Given the description of an element on the screen output the (x, y) to click on. 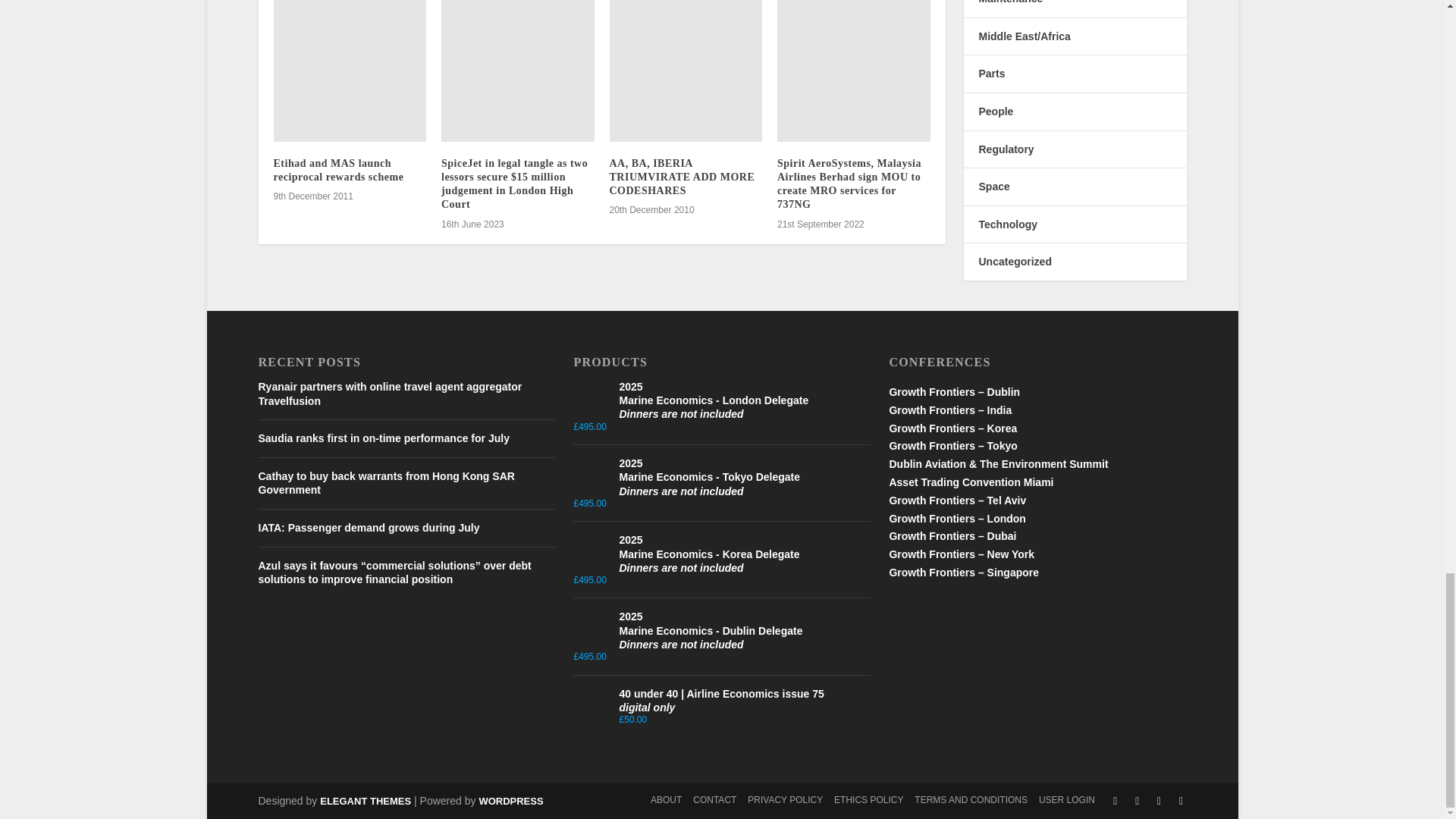
Etihad and MAS launch reciprocal rewards scheme (349, 70)
AA, BA, IBERIA TRIUMVIRATE ADD MORE CODESHARES (686, 70)
